Given the description of an element on the screen output the (x, y) to click on. 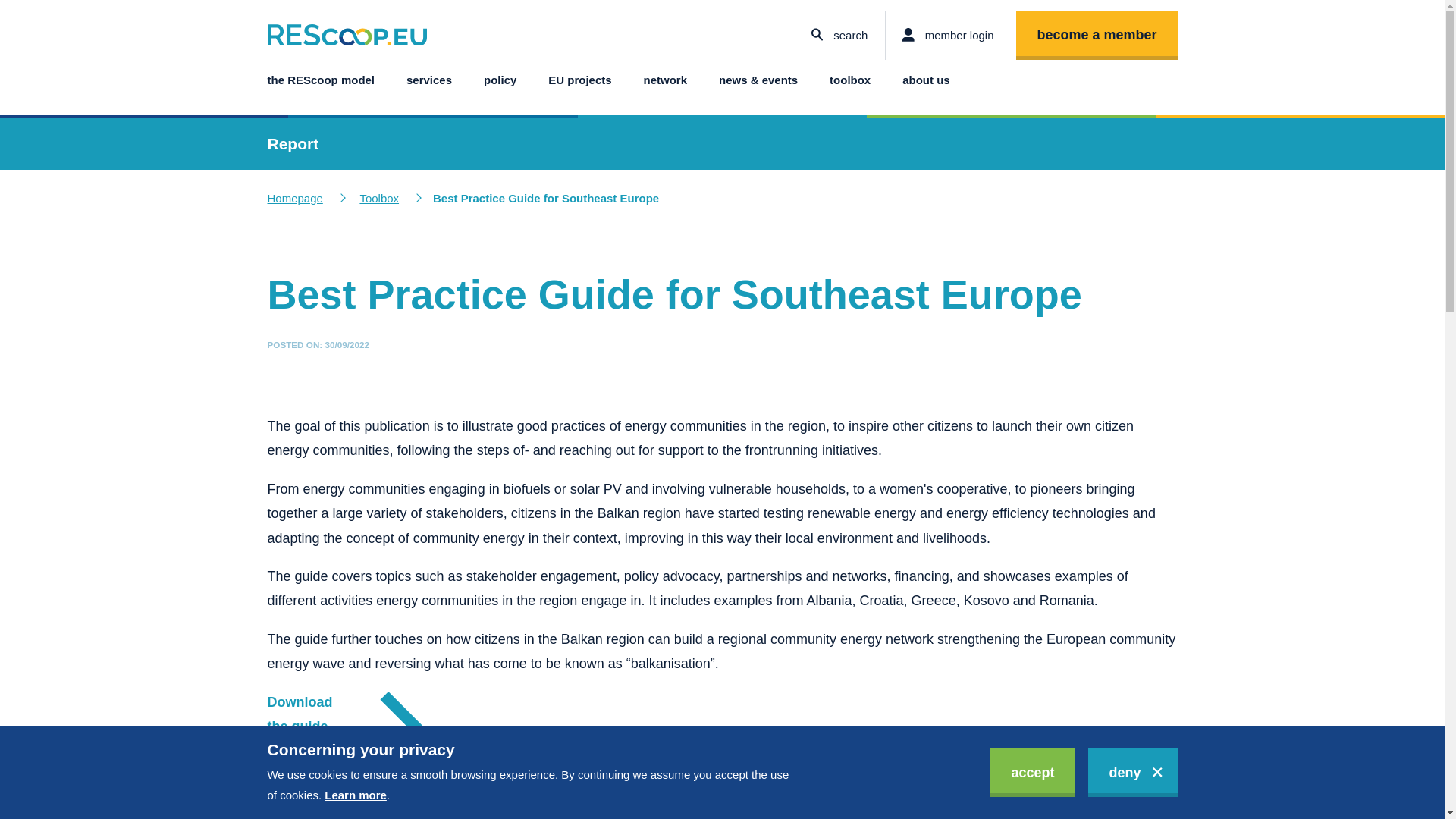
services (428, 79)
network (665, 79)
Download the guide here (347, 730)
become a member (1096, 34)
toolbox (849, 79)
policy (499, 79)
the REScoop model (320, 79)
EU projects (579, 79)
search (838, 34)
about us (925, 79)
member login (947, 34)
Homepage (293, 198)
Toolbox (378, 198)
